Given the description of an element on the screen output the (x, y) to click on. 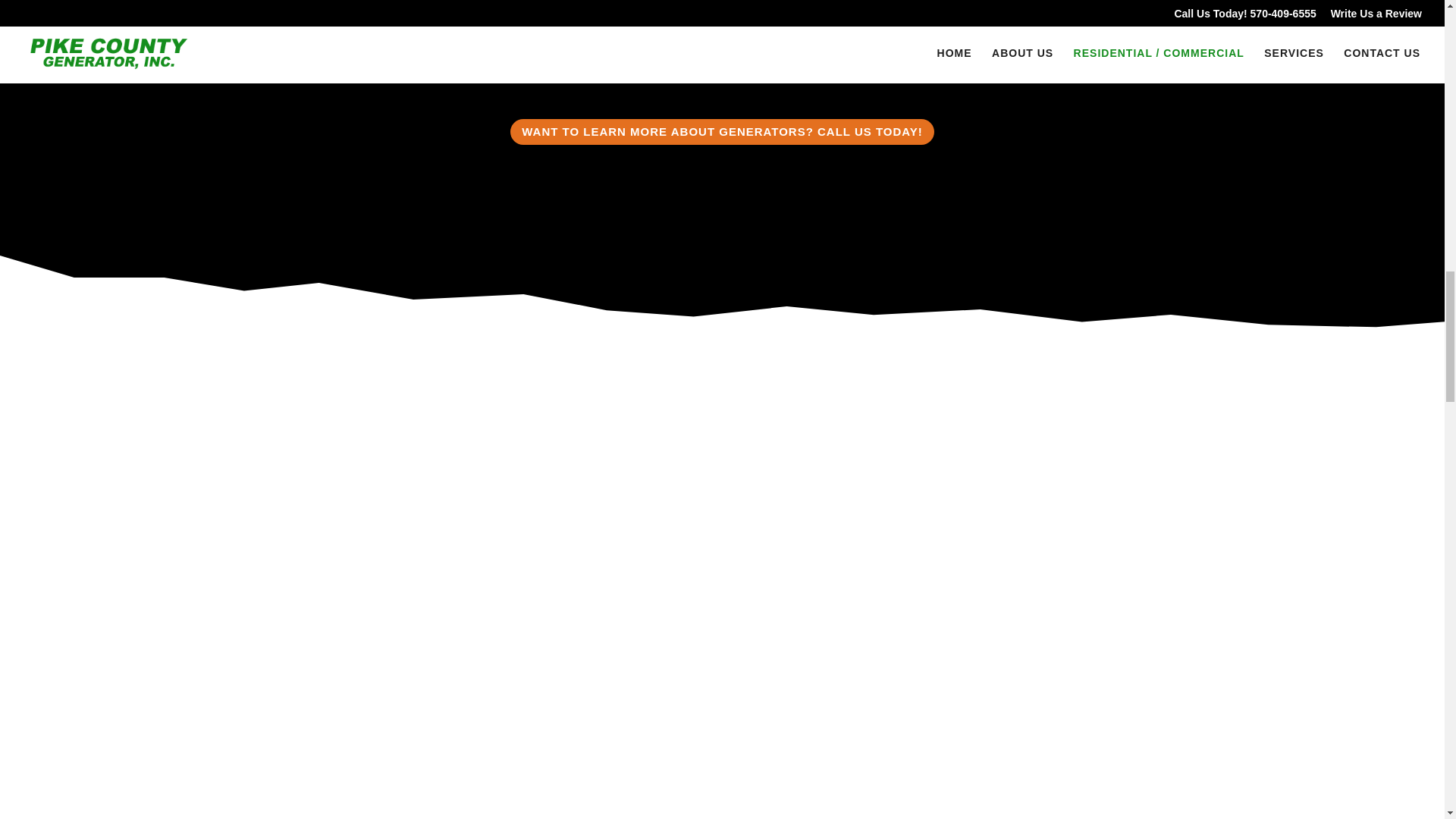
WANT TO LEARN MORE ABOUT GENERATORS? CALL US TODAY! (722, 131)
